Given the description of an element on the screen output the (x, y) to click on. 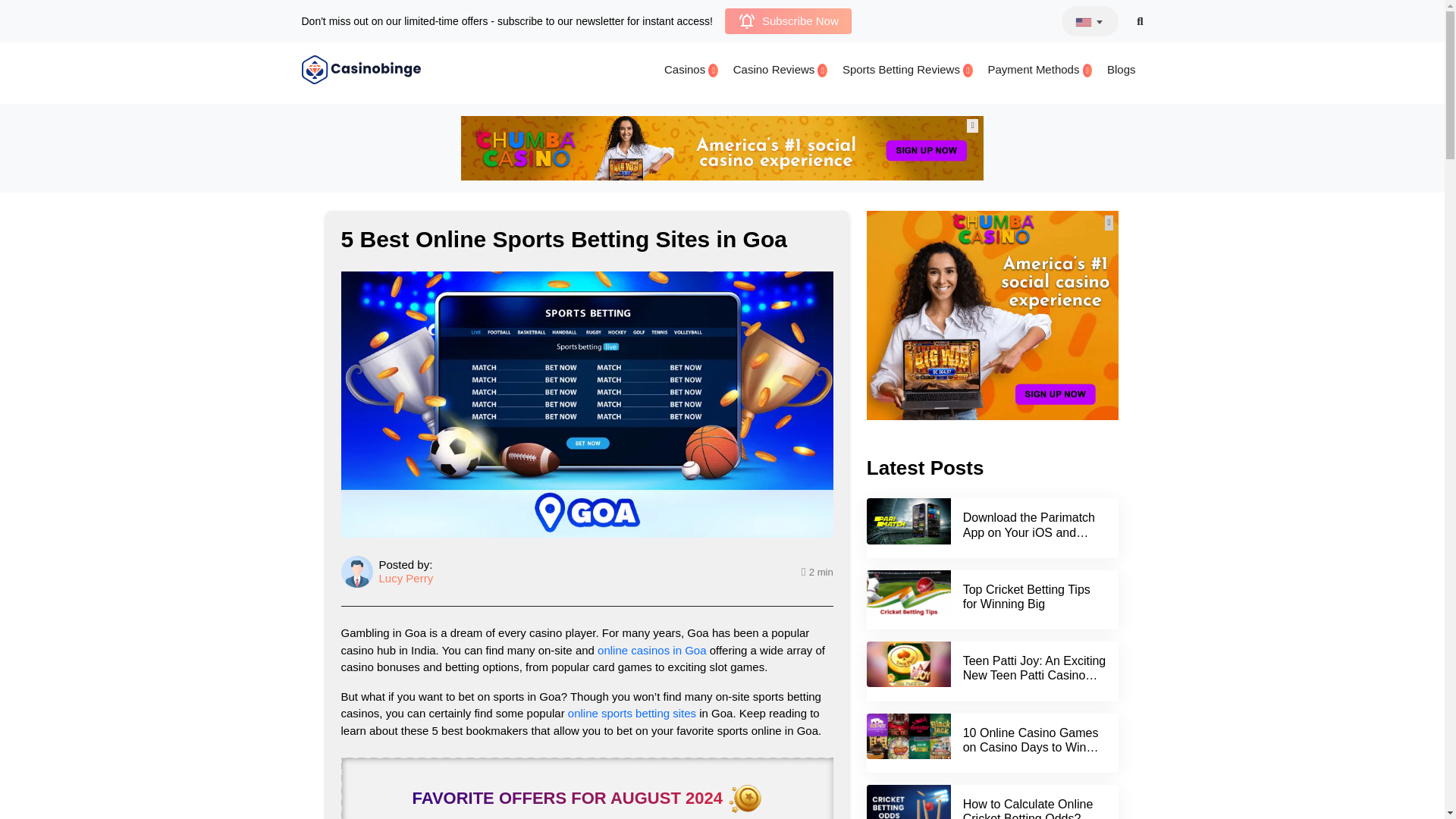
Sports Betting Reviews (906, 69)
Casino Reviews (779, 69)
10 Online Casino Games on Casino Days to Win Real Cash (1030, 747)
Subscribe Now (788, 21)
online casinos in Goa (651, 649)
Teen Patti Joy: An Exciting New Teen Patti Casino App (1034, 675)
Top Cricket Betting Tips for Winning Big (1026, 596)
How to Calculate Online Cricket Betting Odds? (1027, 808)
online sports betting sites (631, 712)
Download the Parimatch App on Your iOS and Android Devices (1028, 531)
